Given the description of an element on the screen output the (x, y) to click on. 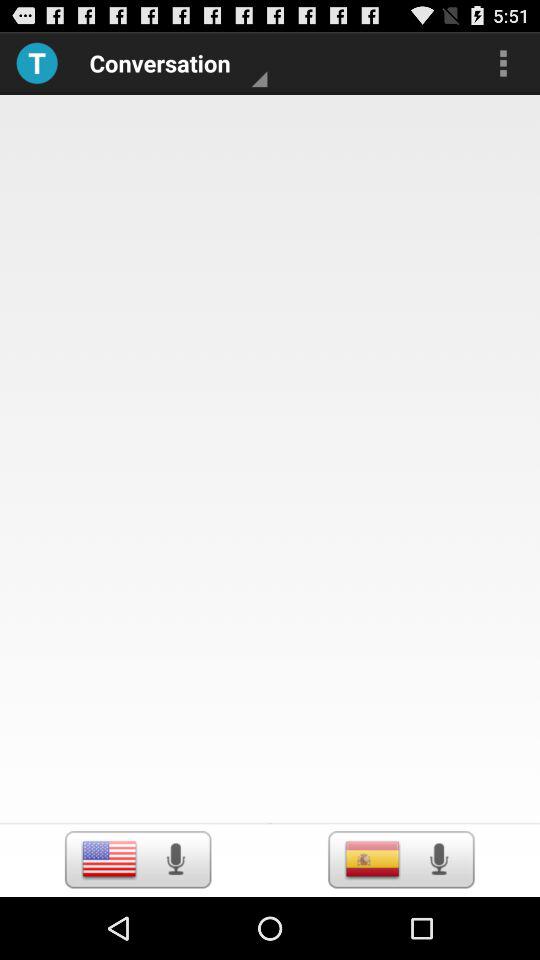
volume icon next to american flag (175, 859)
